Given the description of an element on the screen output the (x, y) to click on. 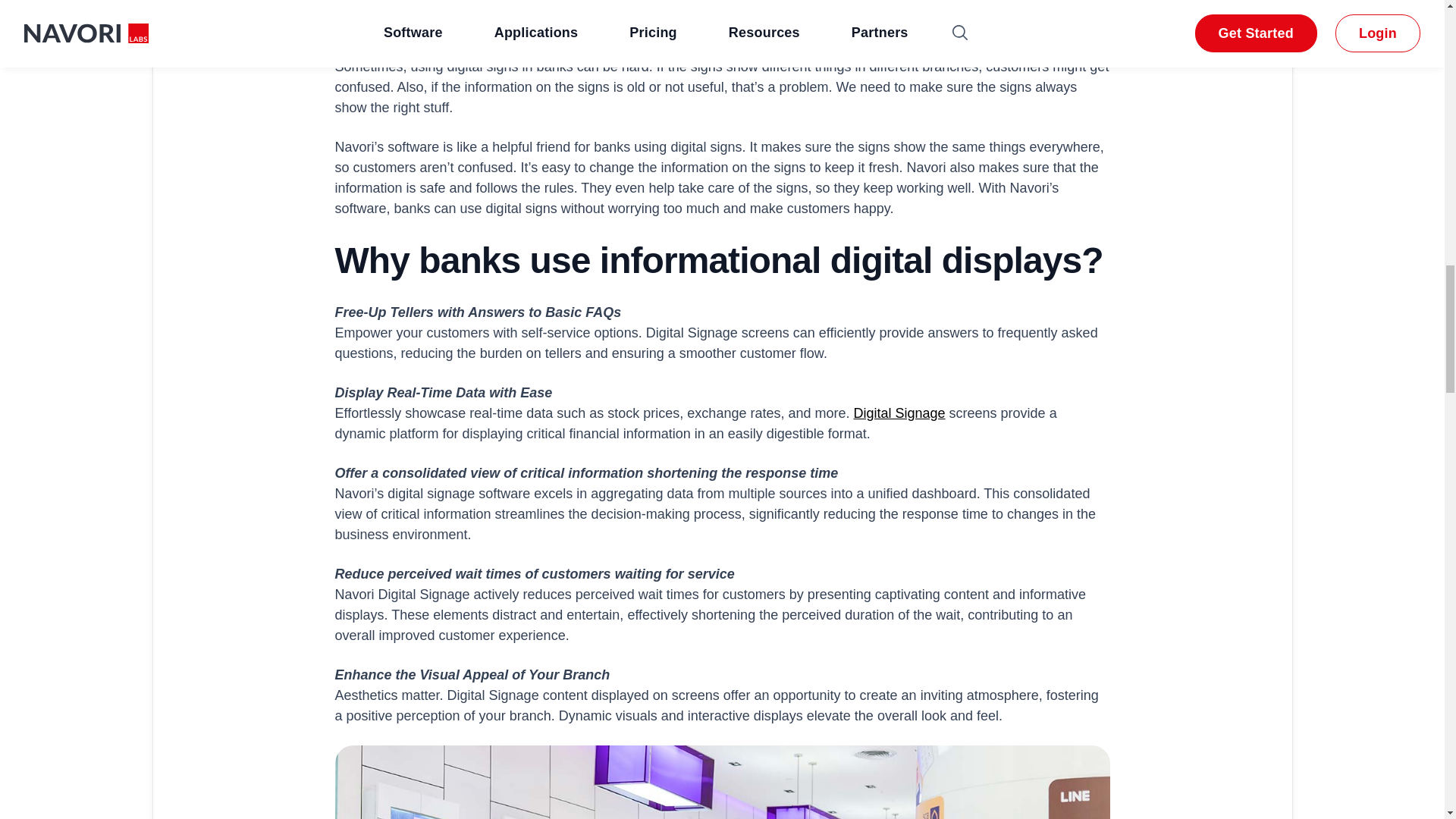
Banking-Waiting-Customers (721, 782)
